Given the description of an element on the screen output the (x, y) to click on. 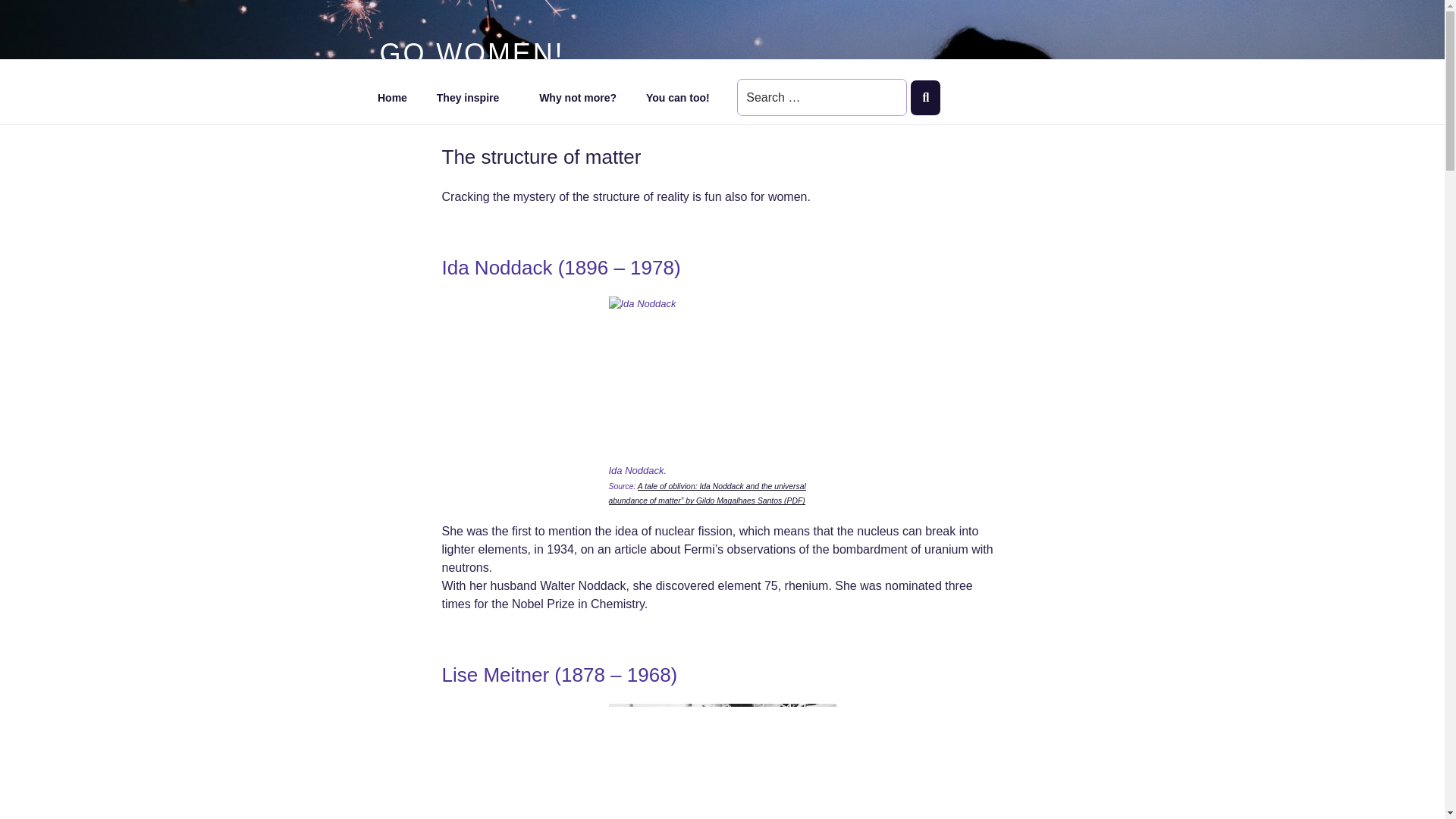
Lise Meitner (721, 761)
You can too! (676, 97)
Ida Noddack (721, 375)
Search for: (821, 96)
They inspire (472, 97)
Why not more? (577, 97)
GO WOMEN! (471, 52)
Home (392, 97)
